Given the description of an element on the screen output the (x, y) to click on. 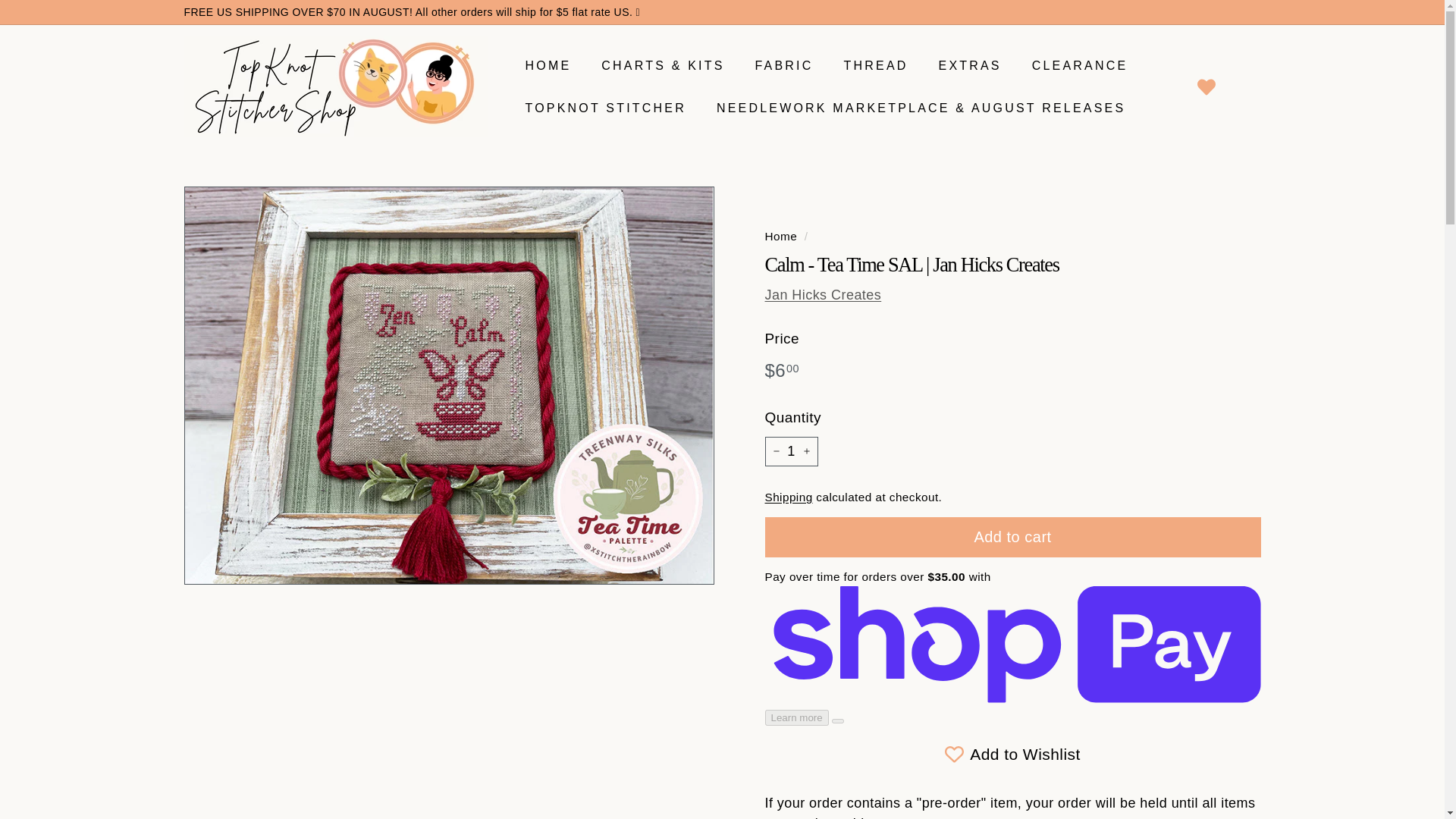
HOME (547, 65)
1 (790, 451)
Back to the frontpage (780, 236)
